Given the description of an element on the screen output the (x, y) to click on. 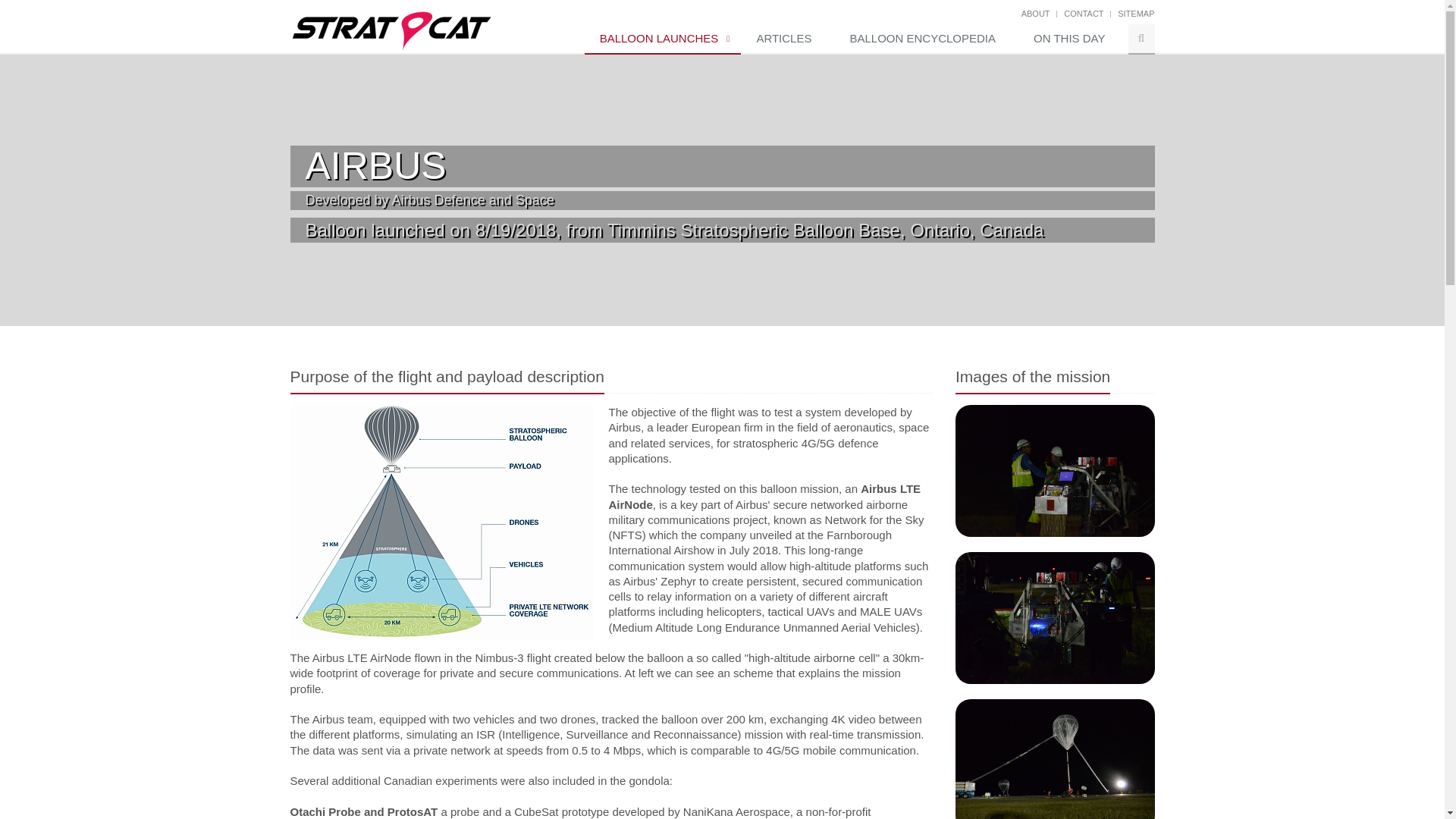
CONTACT (1083, 13)
BALLOON ENCYCLOPEDIA (925, 39)
SITEMAP (1136, 13)
BALLOON LAUNCHES (663, 39)
ON THIS DAY (1071, 39)
ABOUT (1035, 13)
ARTICLES (787, 39)
